Given the description of an element on the screen output the (x, y) to click on. 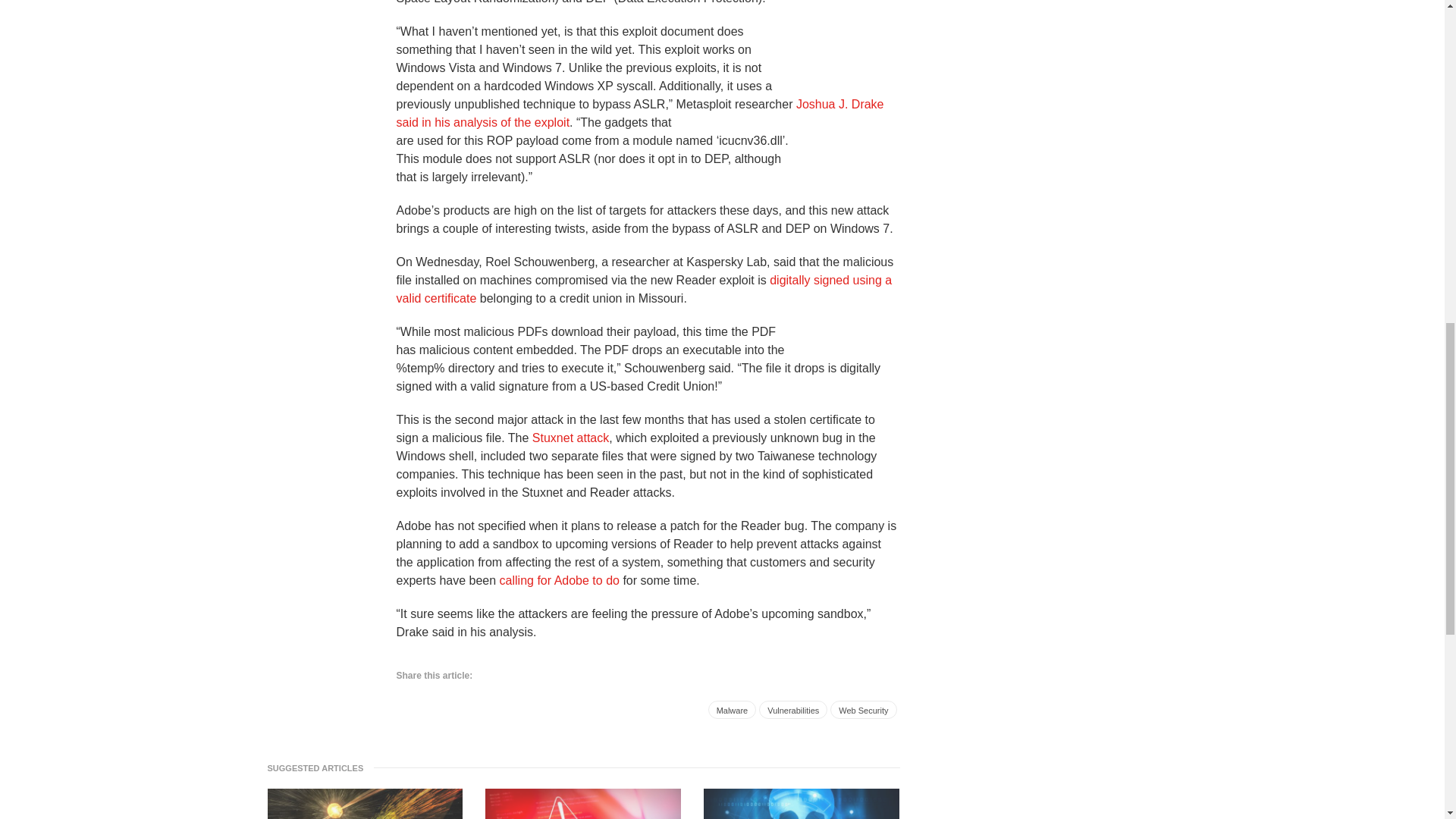
digitally signed using a valid certificate (643, 287)
Vulnerabilities (792, 710)
calling for Adobe to do (559, 579)
Web Security (862, 710)
Joshua J. Drake said in his analysis of the exploit (639, 112)
Malware (732, 710)
SUGGESTED ARTICLES (319, 767)
Stuxnet attack (570, 436)
